Given the description of an element on the screen output the (x, y) to click on. 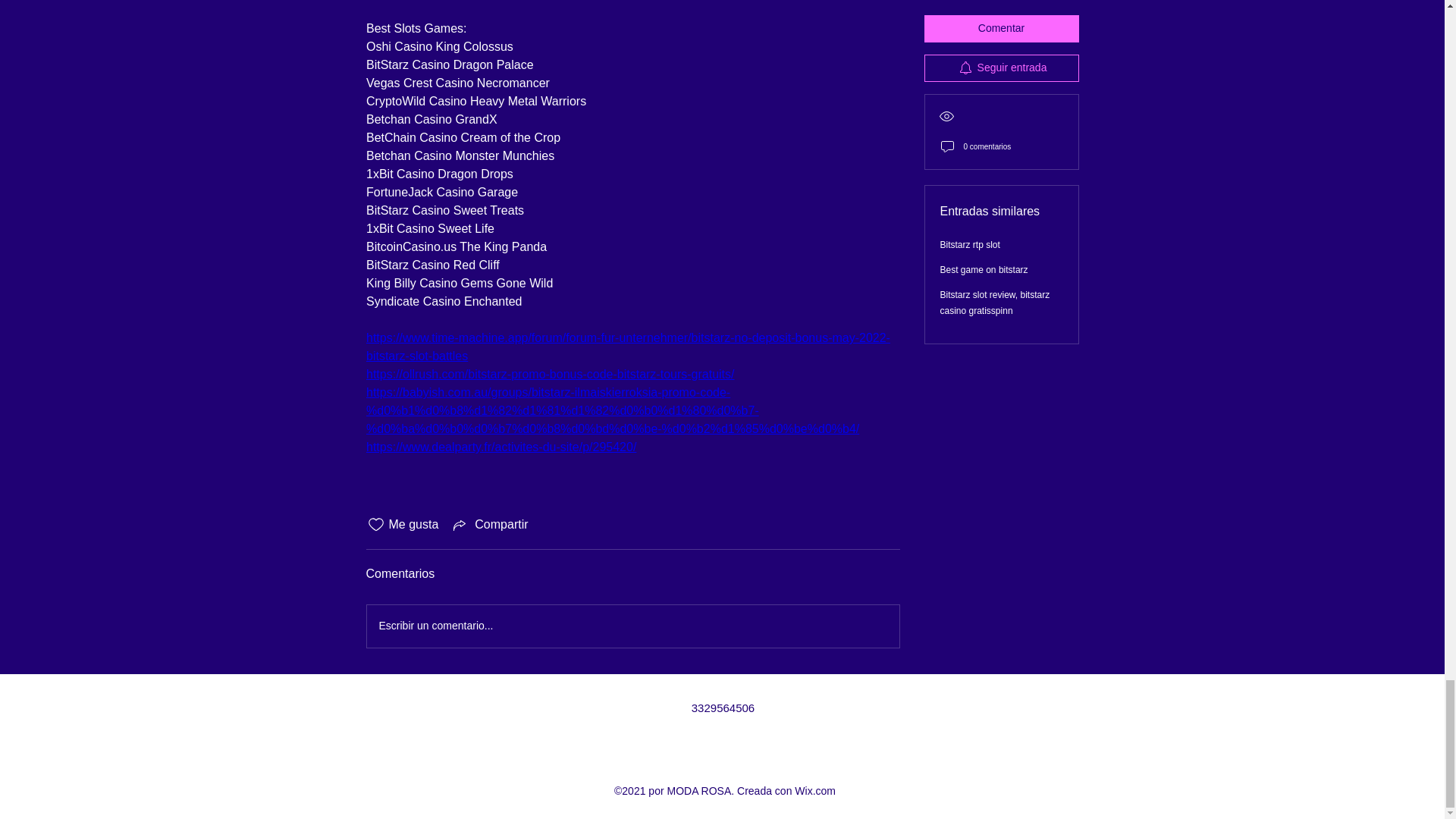
Compartir (488, 524)
Escribir un comentario... (632, 626)
